Given the description of an element on the screen output the (x, y) to click on. 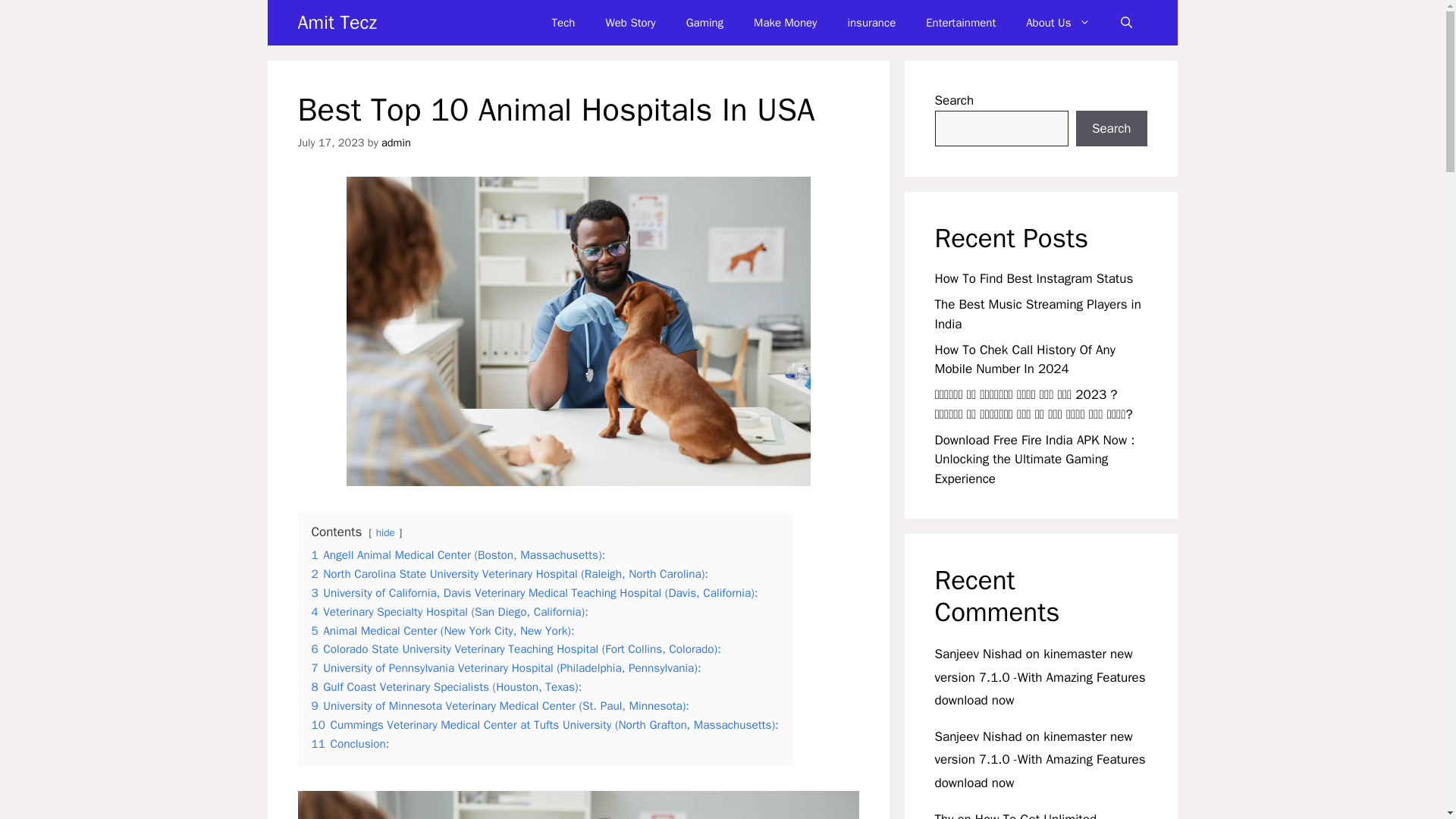
hide (384, 532)
How To Chek Call History Of Any Mobile Number In 2024 (1024, 358)
View all posts by admin (395, 142)
Make Money (784, 22)
The Best Music Streaming Players in India (1037, 314)
About Us (1057, 22)
Amit Tecz (336, 22)
Search (1111, 128)
Web Story (629, 22)
admin (395, 142)
11 Conclusion: (349, 743)
insurance (871, 22)
Tech (564, 22)
Gaming (704, 22)
